Given the description of an element on the screen output the (x, y) to click on. 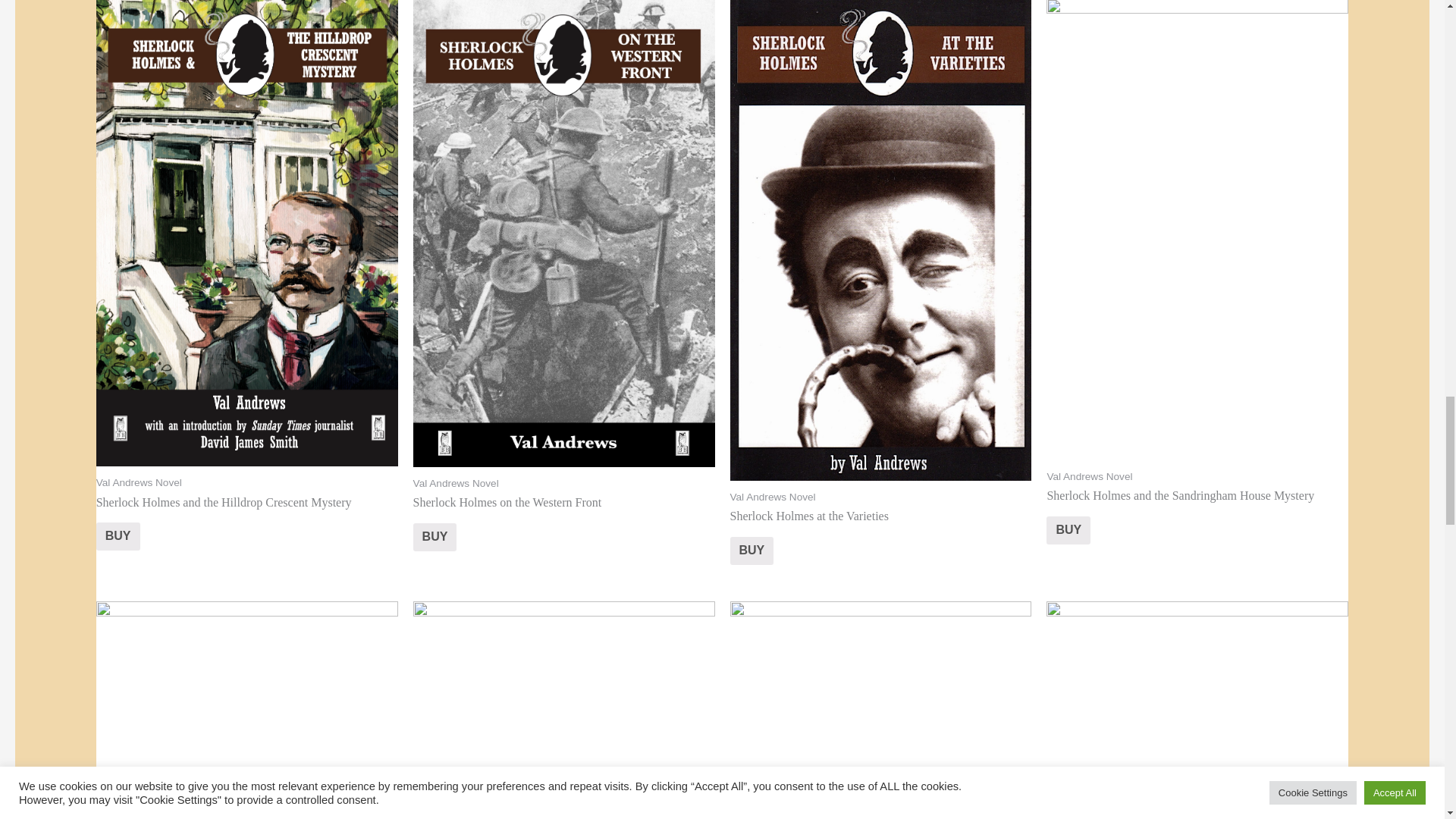
BUY (117, 536)
Sherlock Holmes and the Hilldrop Crescent Mystery (246, 518)
